Given the description of an element on the screen output the (x, y) to click on. 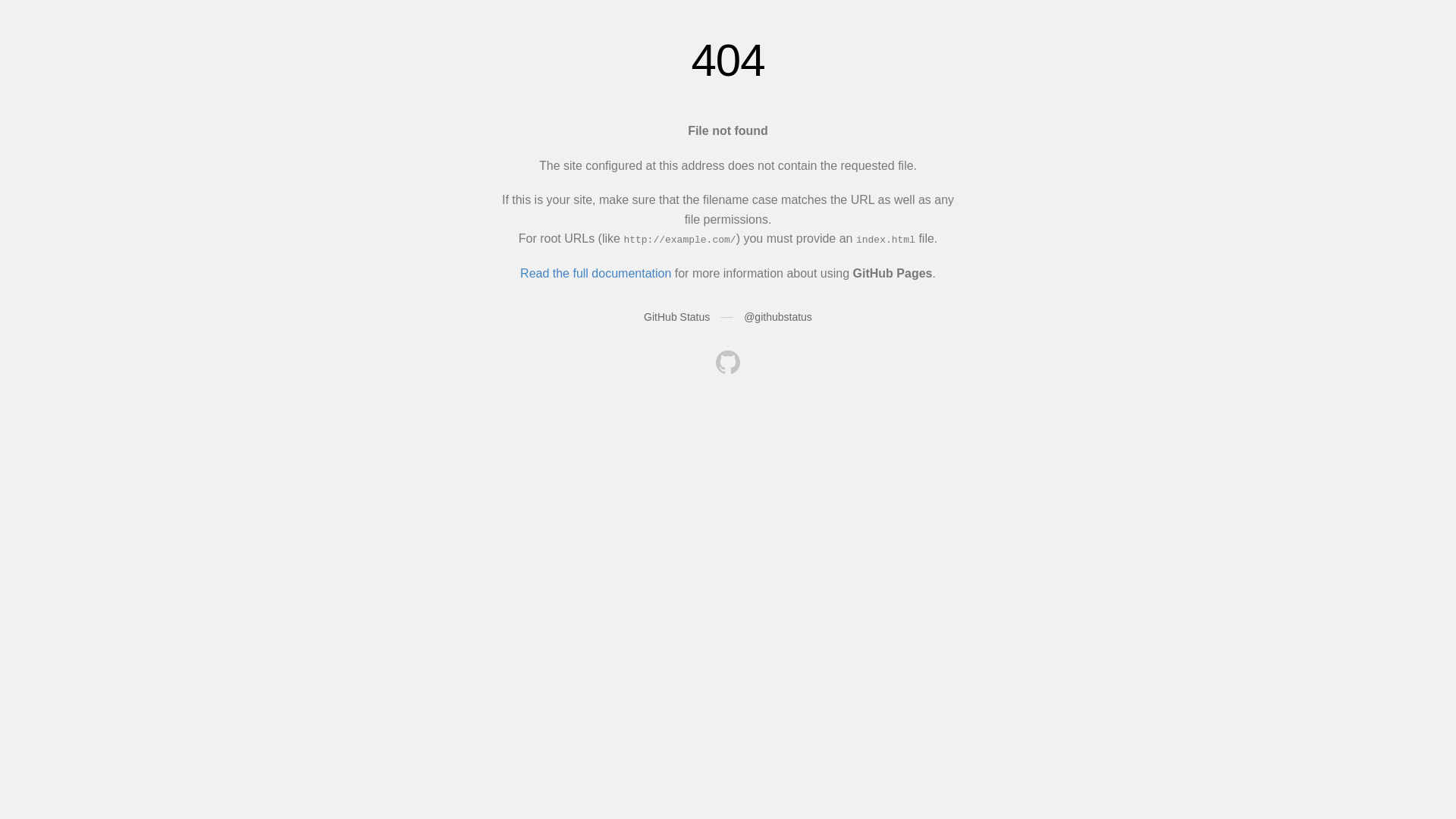
GitHub Status Element type: text (676, 316)
Read the full documentation Element type: text (595, 272)
@githubstatus Element type: text (777, 316)
